Given the description of an element on the screen output the (x, y) to click on. 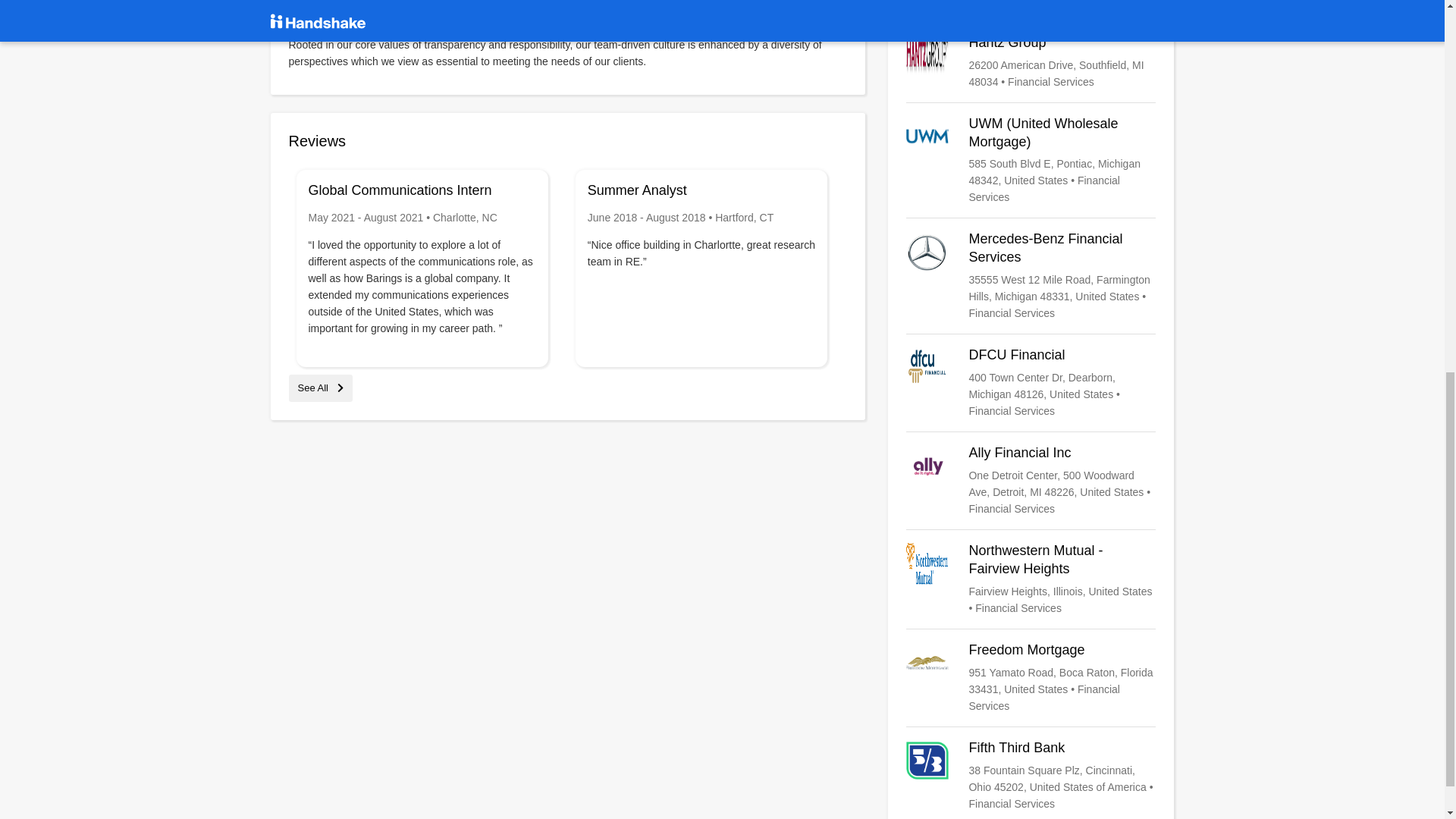
Northwestern Mutual - Fairview Heights (1030, 579)
Thrivent (1030, 4)
See All (320, 387)
DFCU Financial (1030, 382)
Mercedes-Benz Financial Services (1030, 275)
Fifth Third Bank (1030, 775)
Hantz Group (1030, 62)
Freedom Mortgage (1030, 677)
Ally Financial Inc (1030, 480)
